Given the description of an element on the screen output the (x, y) to click on. 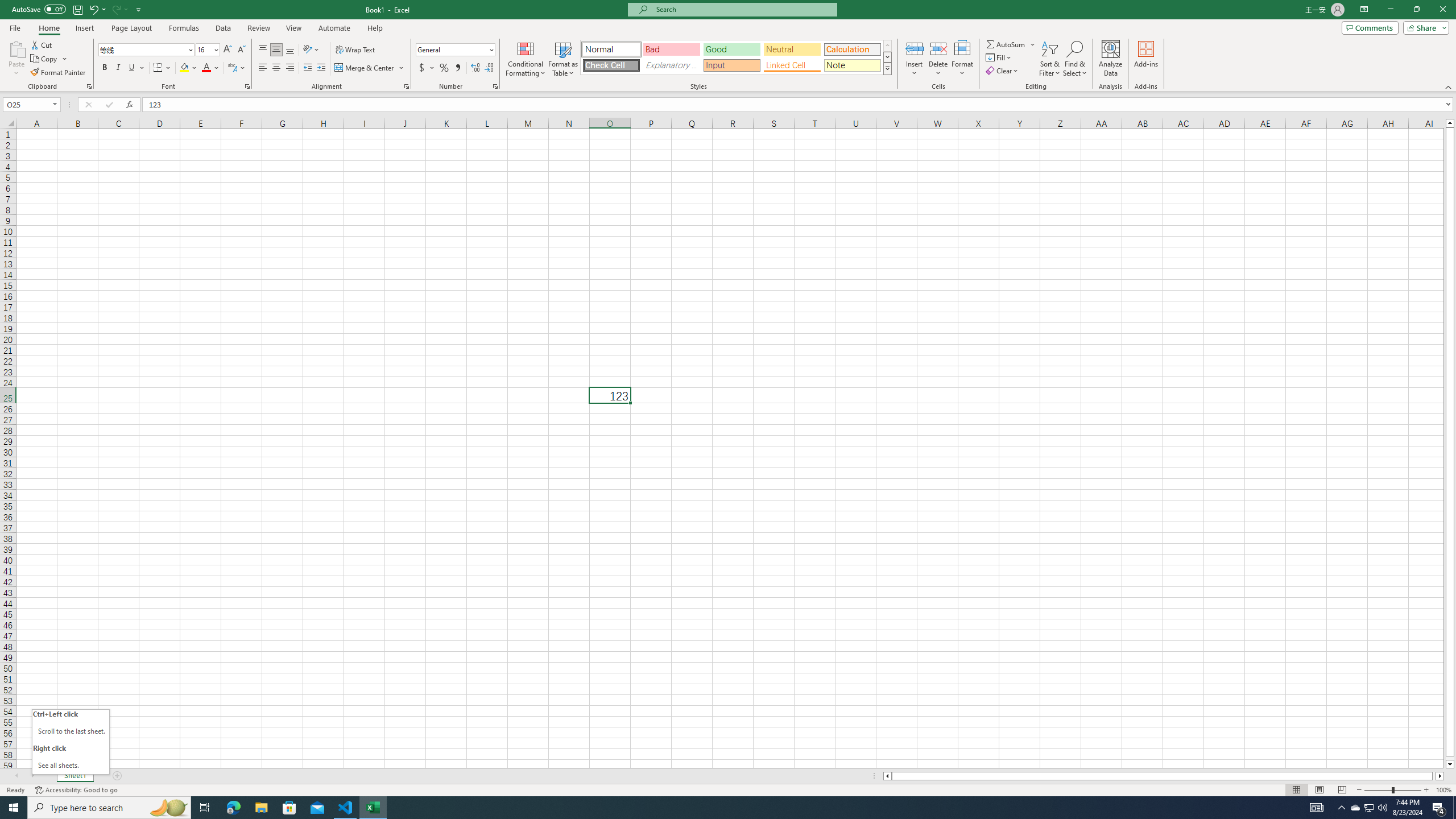
Check Cell (611, 65)
Underline (131, 67)
Underline (136, 67)
Class: MsoCommandBar (728, 45)
Input (731, 65)
Percent Style (443, 67)
Explanatory Text (671, 65)
Neutral (791, 49)
Format Cell Font (247, 85)
